Given the description of an element on the screen output the (x, y) to click on. 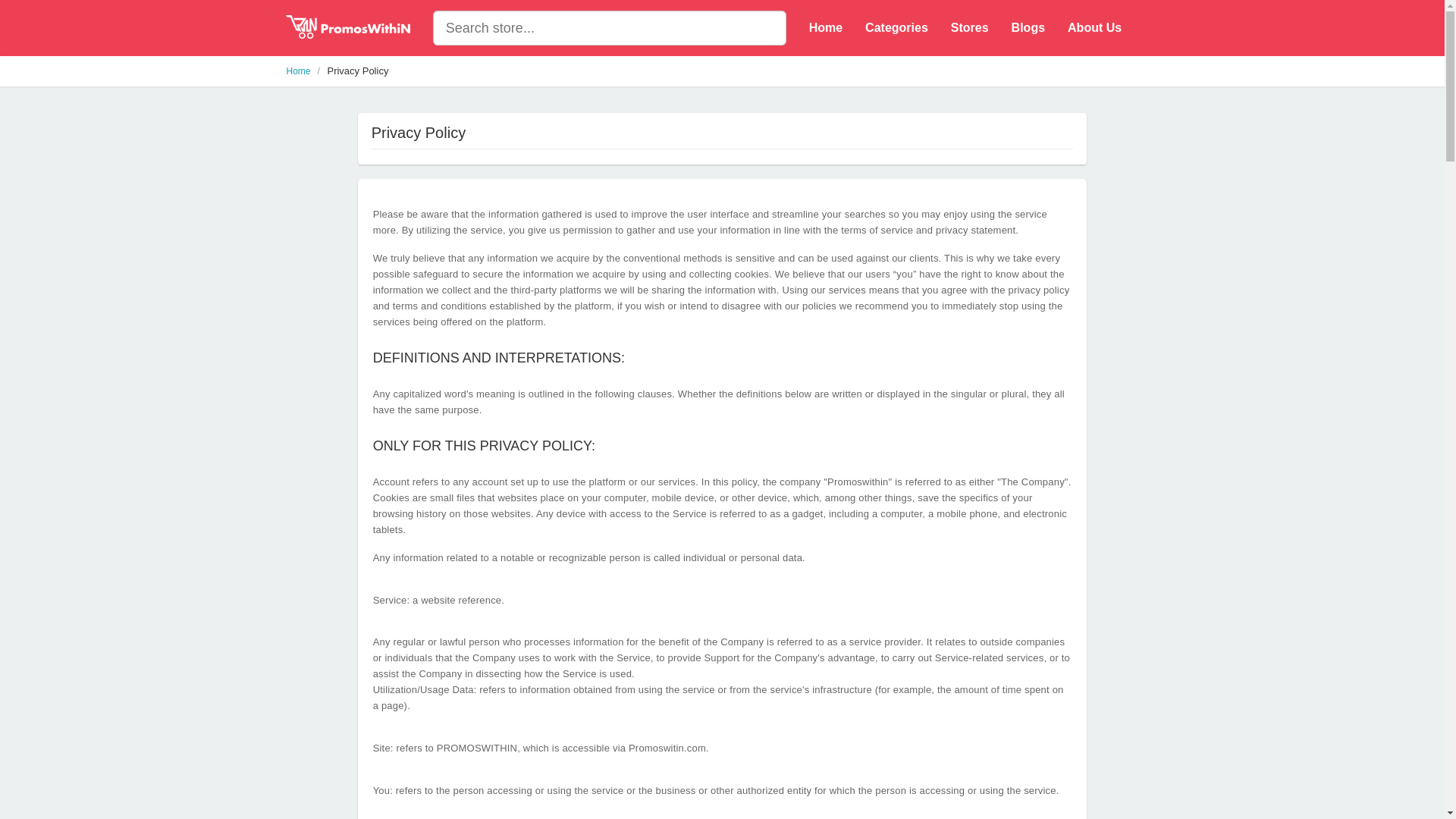
Home (825, 28)
Stores (969, 28)
Home (298, 71)
Categories (896, 28)
Blogs (1028, 28)
About Us (1094, 28)
